Given the description of an element on the screen output the (x, y) to click on. 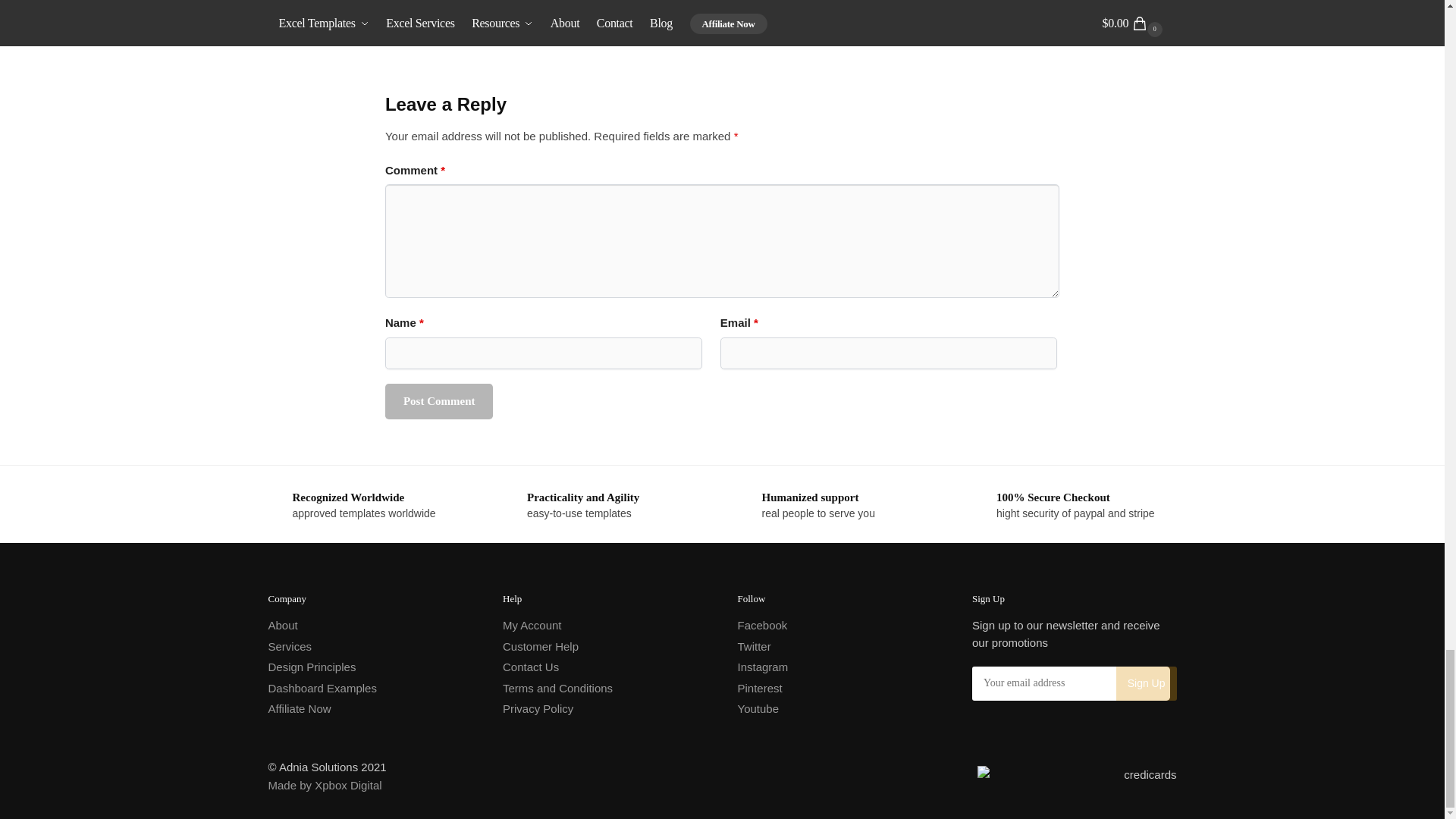
adnia solutions (1076, 776)
Post Comment (439, 401)
Sign up (1146, 683)
